Given the description of an element on the screen output the (x, y) to click on. 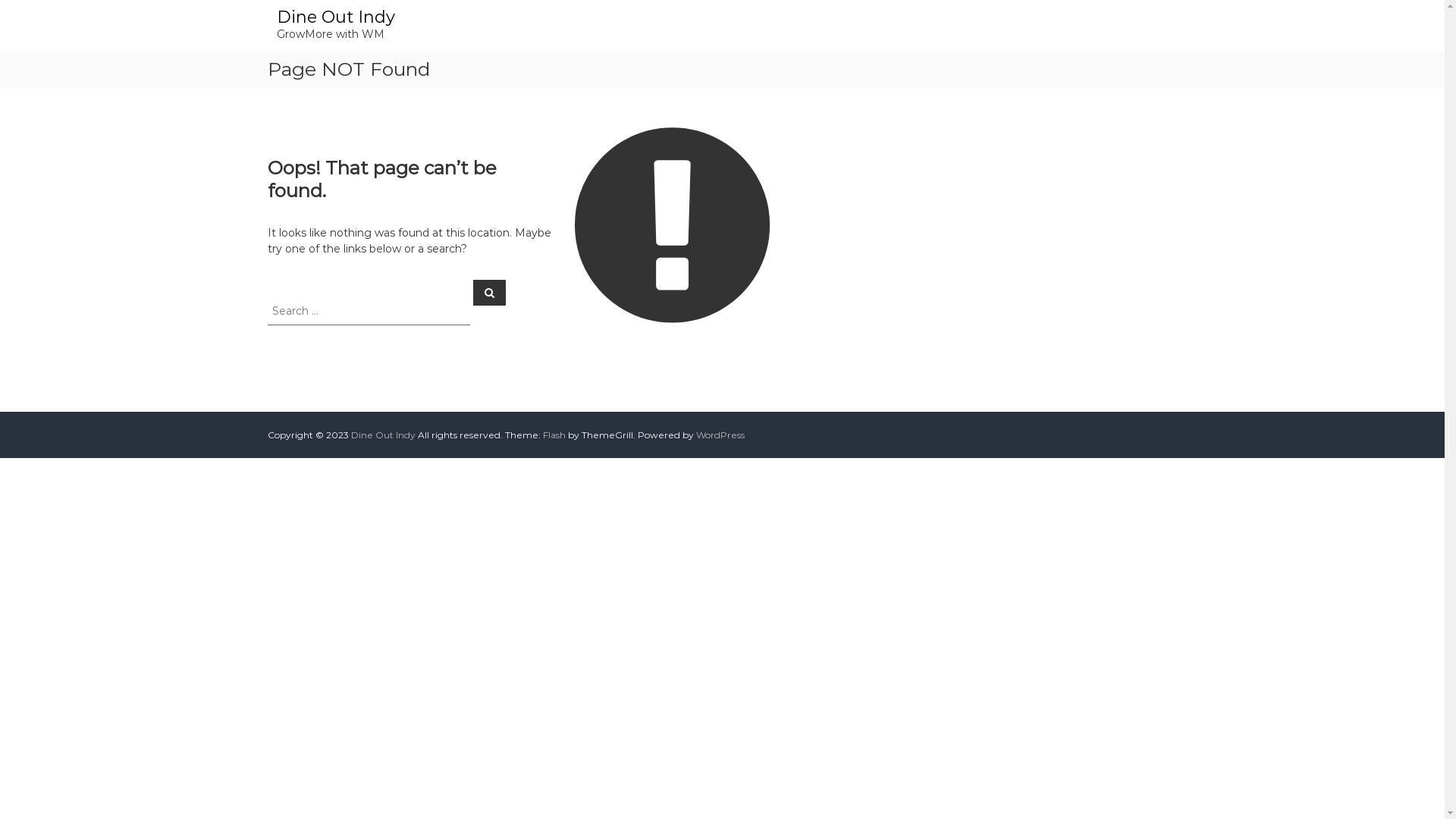
Flash Element type: text (553, 434)
Search Element type: text (489, 291)
WordPress Element type: text (720, 434)
Dine Out Indy Element type: text (382, 434)
Dine Out Indy Element type: text (335, 16)
